Given the description of an element on the screen output the (x, y) to click on. 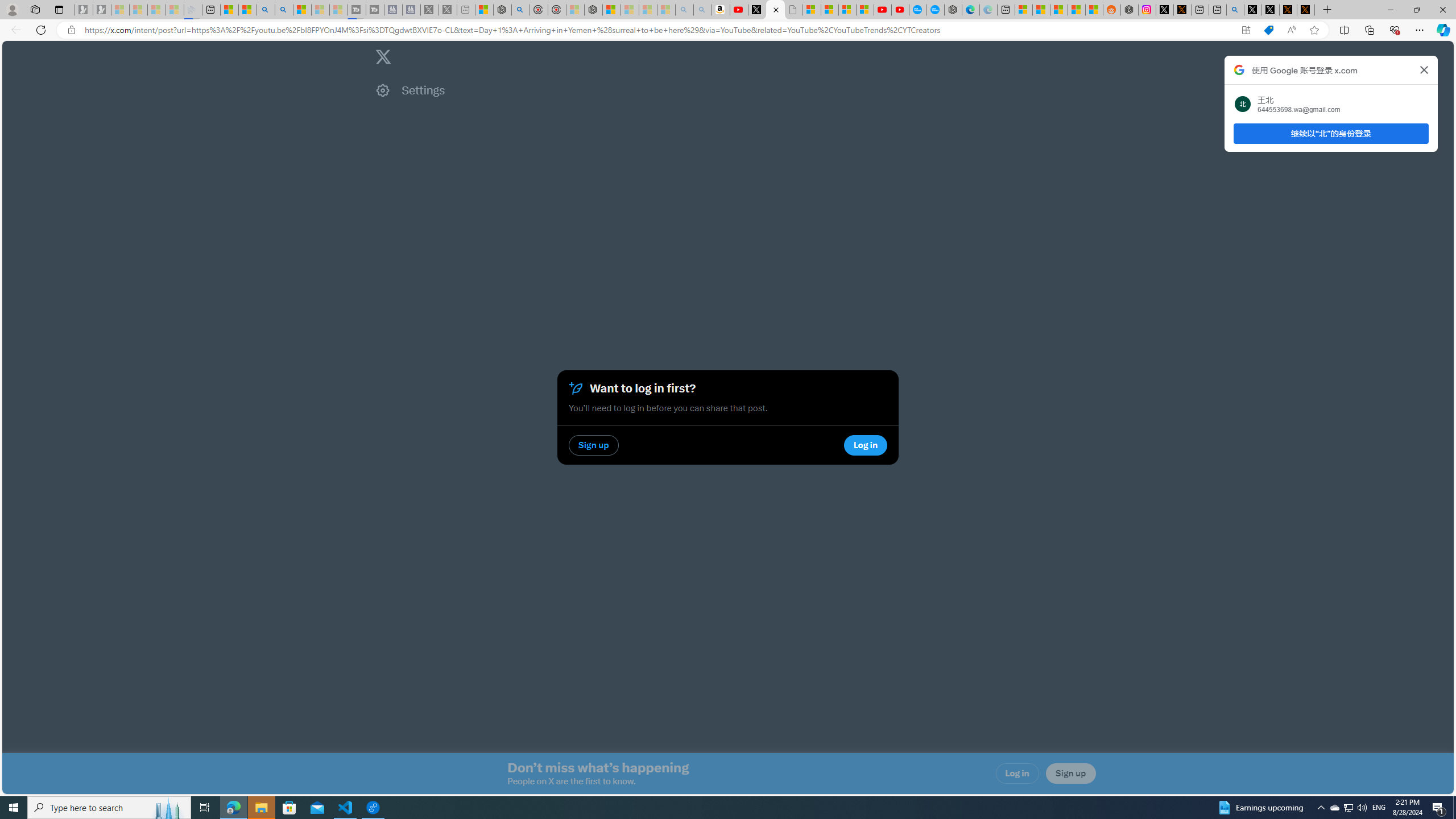
Minimize (1390, 9)
Back (13, 29)
Class: Bz112c Bz112c-r9oPif (1423, 69)
Address and search bar (658, 29)
Log in (1017, 773)
Amazon Echo Dot PNG - Search Images - Sleeping (702, 9)
github - Search (1235, 9)
The most popular Google 'how to' searches (935, 9)
Streaming Coverage | T3 - Sleeping (357, 9)
Day 1: Arriving in Yemen (surreal to be here) - YouTube (738, 9)
